Given the description of an element on the screen output the (x, y) to click on. 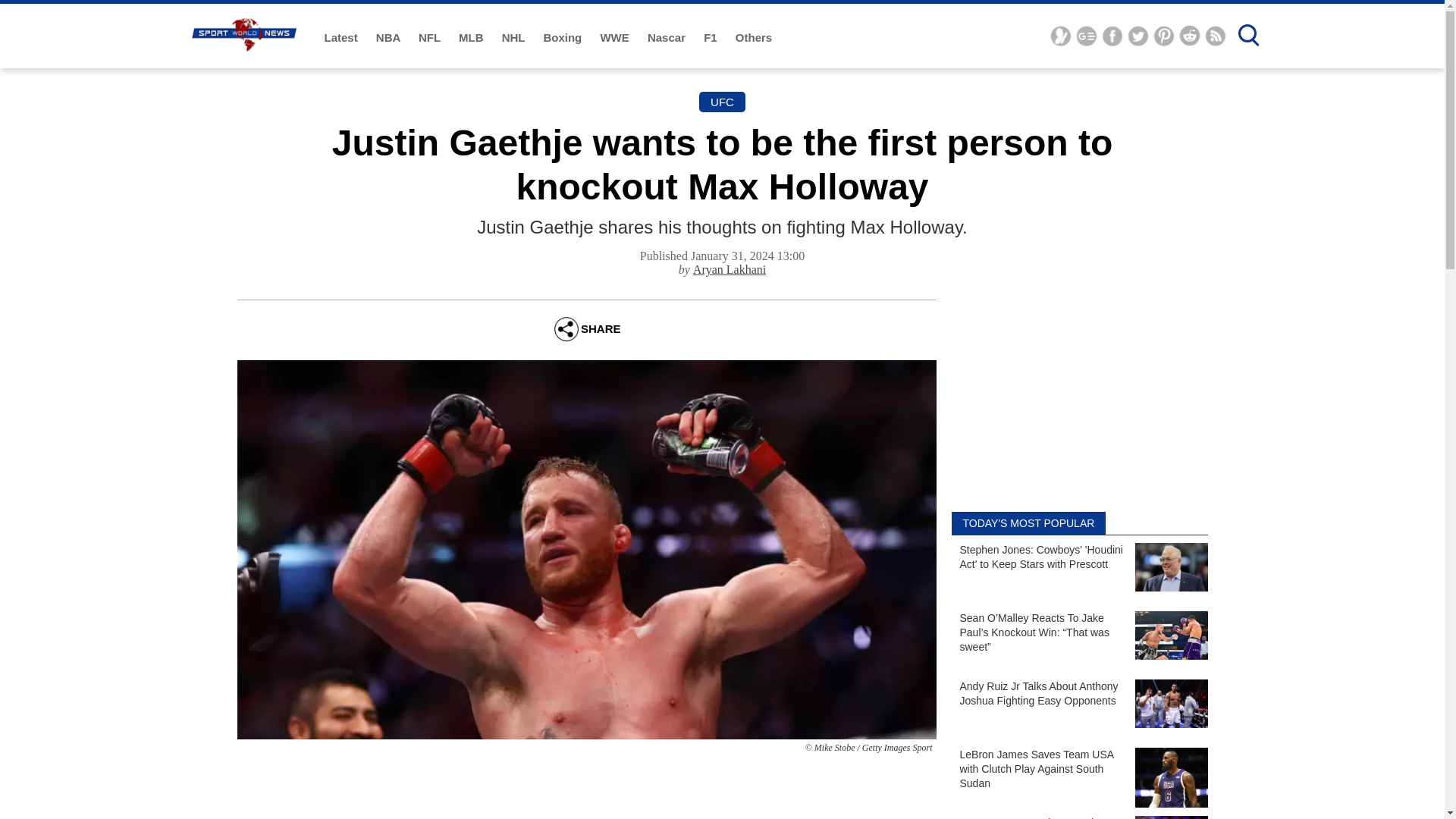
MLB (472, 37)
NBA (389, 37)
Nascar (667, 37)
NHL (515, 37)
Boxing (564, 37)
Others (753, 37)
NFL (431, 37)
F1 (711, 37)
Latest (342, 37)
WWE (615, 37)
